Given the description of an element on the screen output the (x, y) to click on. 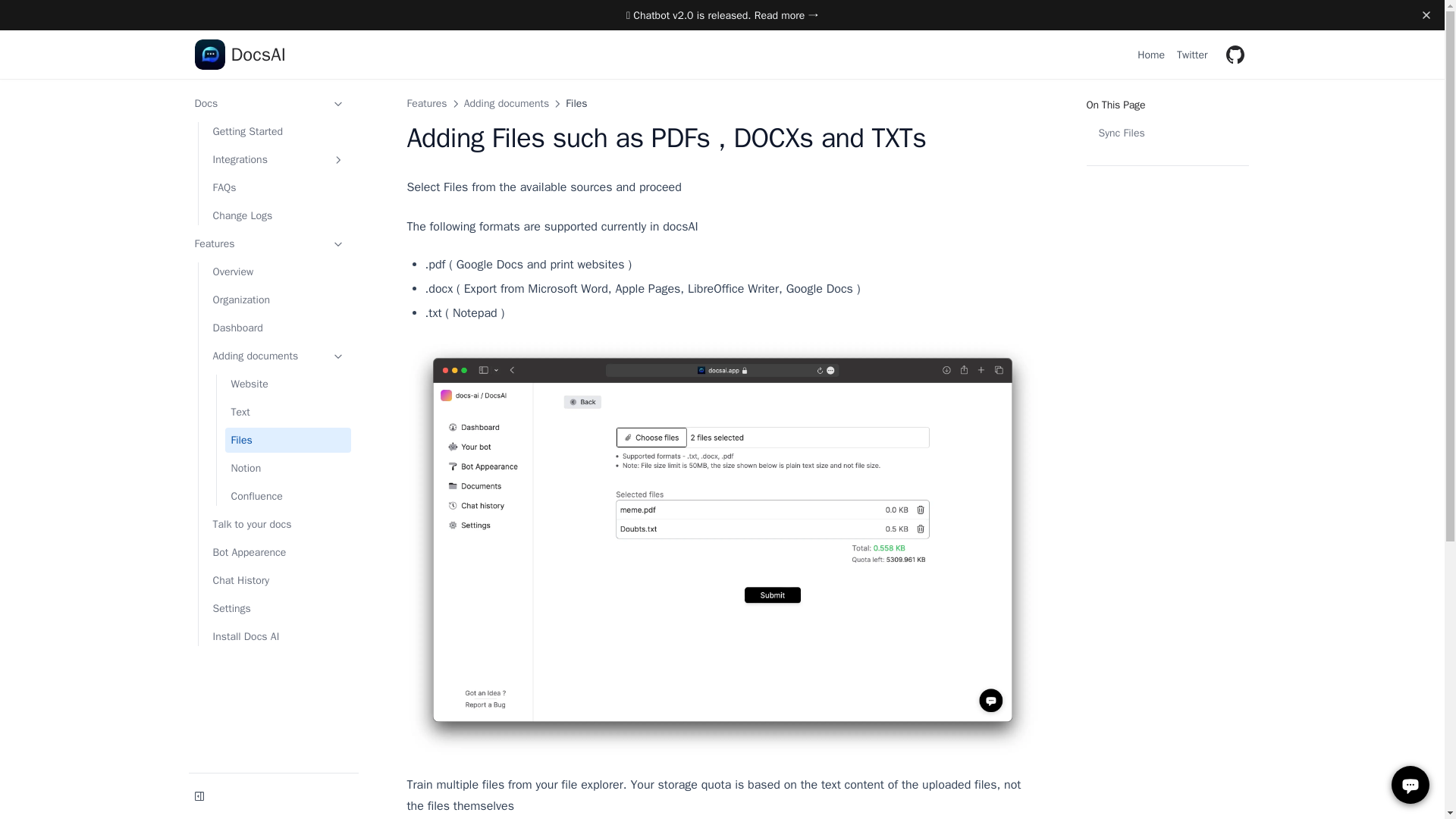
Sync Files (1166, 132)
Dashboard (278, 327)
Hide sidebar (198, 795)
Website (287, 383)
Files (287, 439)
Organization (1177, 146)
Features (278, 299)
Files (426, 103)
Confluence (576, 103)
